Given the description of an element on the screen output the (x, y) to click on. 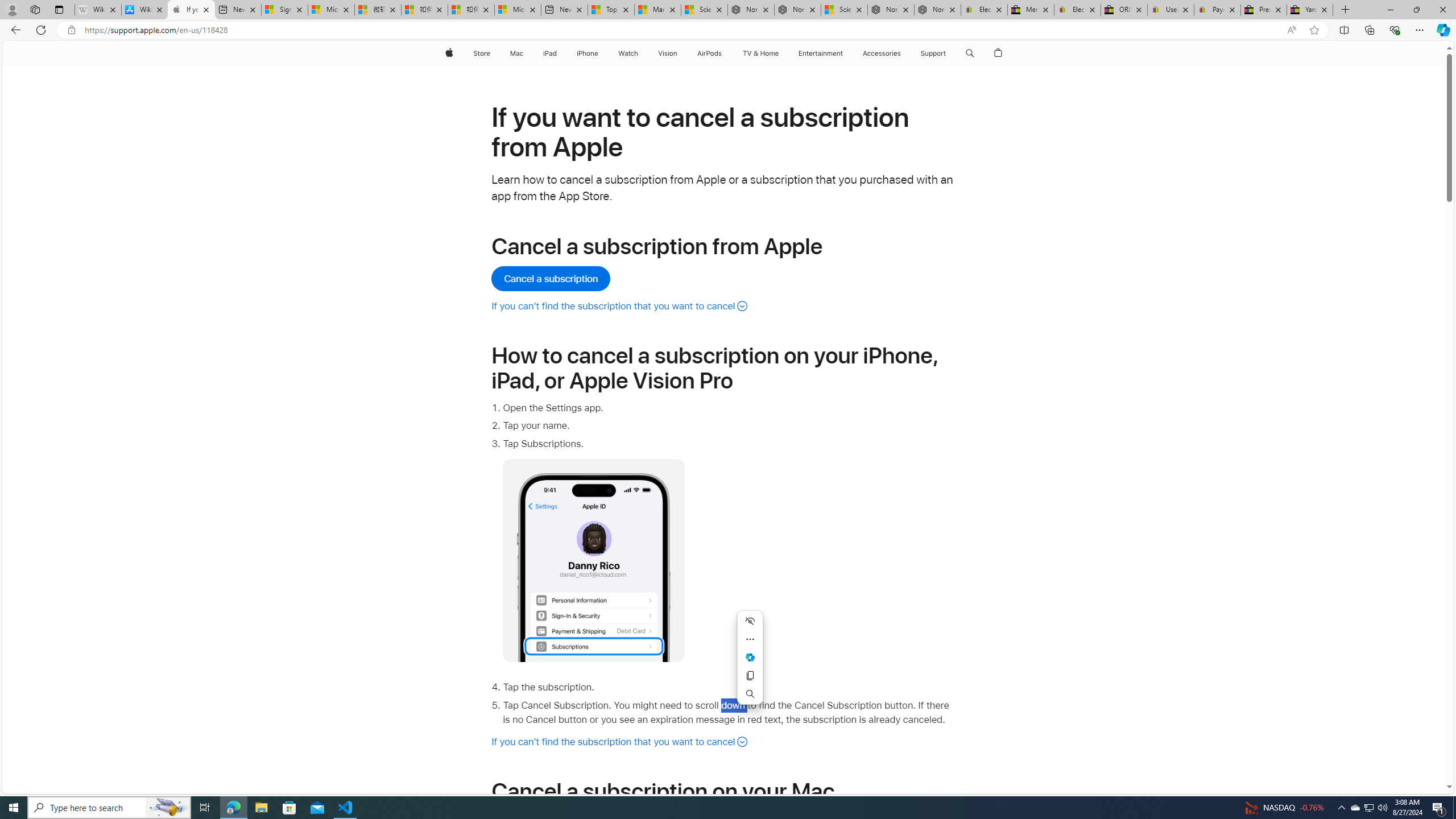
Search (750, 693)
iPhone menu (600, 53)
Mac menu (524, 53)
More actions (750, 638)
Address and search bar (680, 29)
iPad (550, 53)
Electronics, Cars, Fashion, Collectibles & More | eBay (1077, 9)
Store menu (492, 53)
Mac (516, 53)
Accessories menu (903, 53)
User Privacy Notice | eBay (1170, 9)
Support (932, 53)
Hide menu (750, 620)
